Given the description of an element on the screen output the (x, y) to click on. 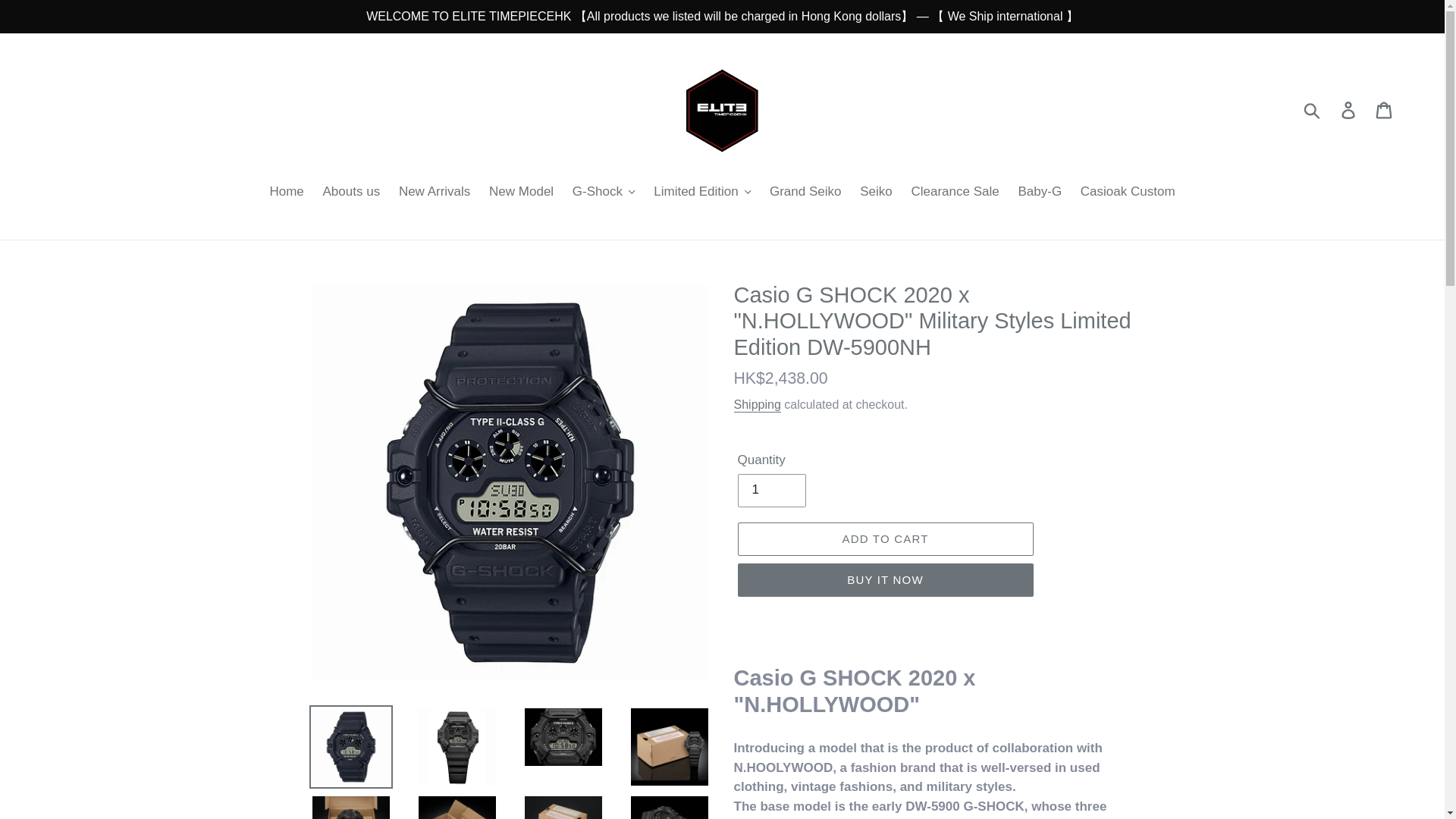
Submit (1313, 109)
1 (770, 490)
Cart (1385, 109)
Log in (1349, 109)
